Given the description of an element on the screen output the (x, y) to click on. 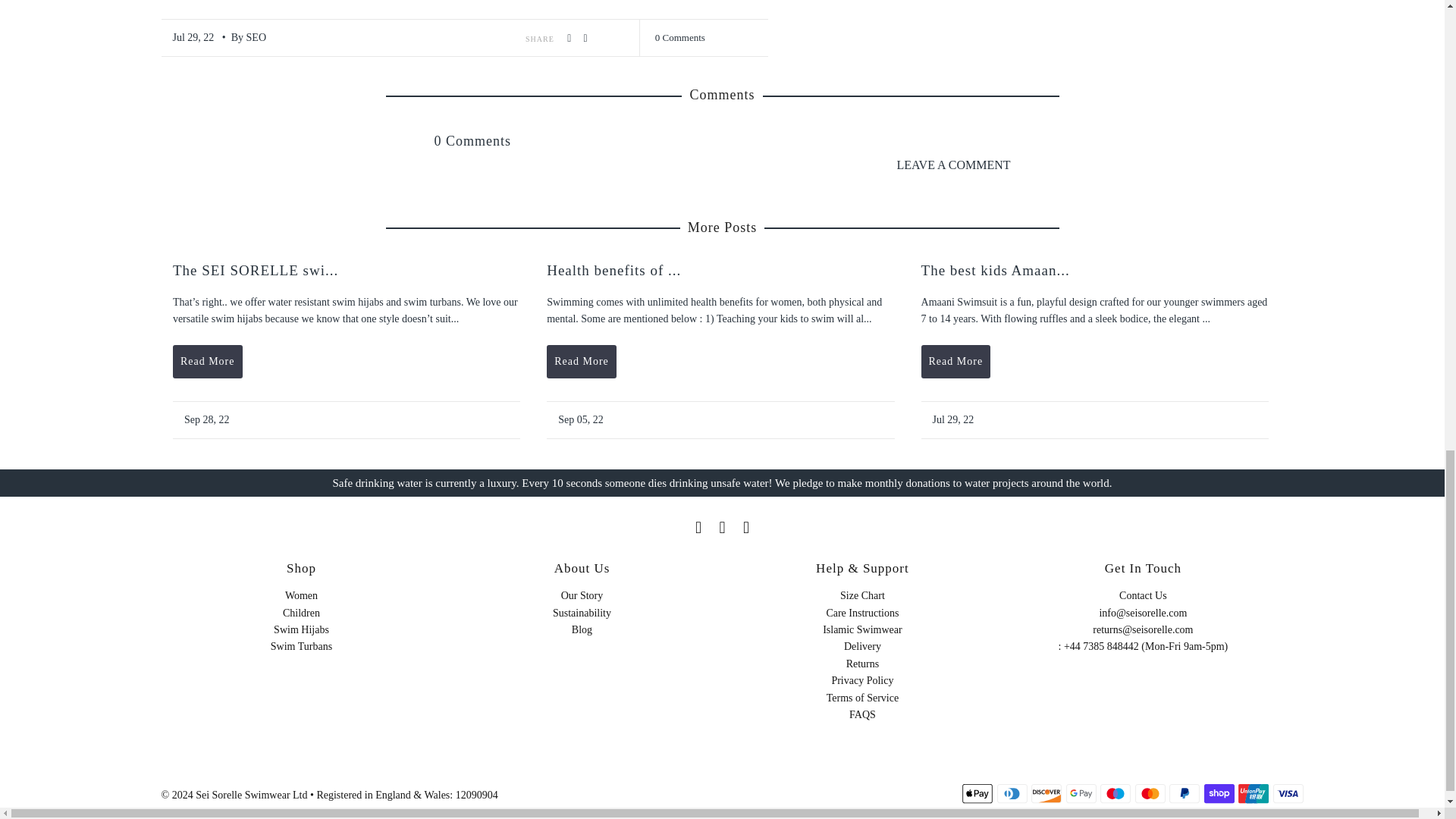
Discover (1045, 793)
Shop Pay (1219, 793)
Union Pay (1253, 793)
PayPal (1184, 793)
Diners Club (1012, 793)
Mastercard (1150, 793)
Apple Pay (977, 793)
Visa (1287, 793)
Google Pay (1080, 793)
Maestro (1115, 793)
